Given the description of an element on the screen output the (x, y) to click on. 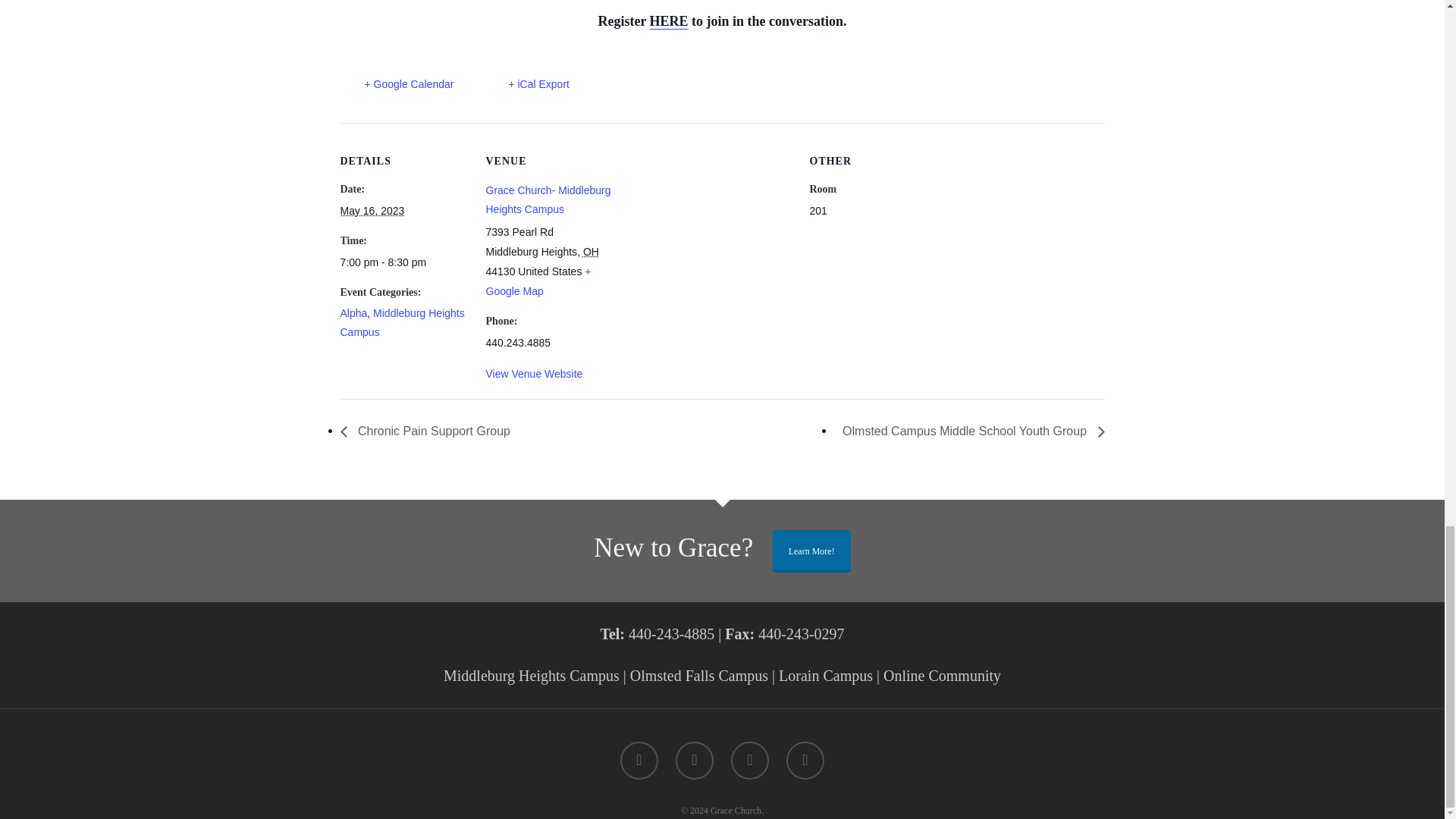
Online Community (942, 675)
Ohio (590, 251)
Middleburg Heights Campus (401, 322)
View Venue Website (533, 373)
Olmsted Falls Campus (699, 675)
Middleburg Heights Campus (532, 675)
Learn More! (811, 550)
Download .ics file (526, 84)
Alpha (352, 313)
Add to Google Calendar (395, 84)
HERE (668, 21)
Lorain Campus (825, 675)
Olmsted Campus Middle School Youth Group (968, 431)
440-243-4885 (669, 633)
2023-05-16 (403, 262)
